Given the description of an element on the screen output the (x, y) to click on. 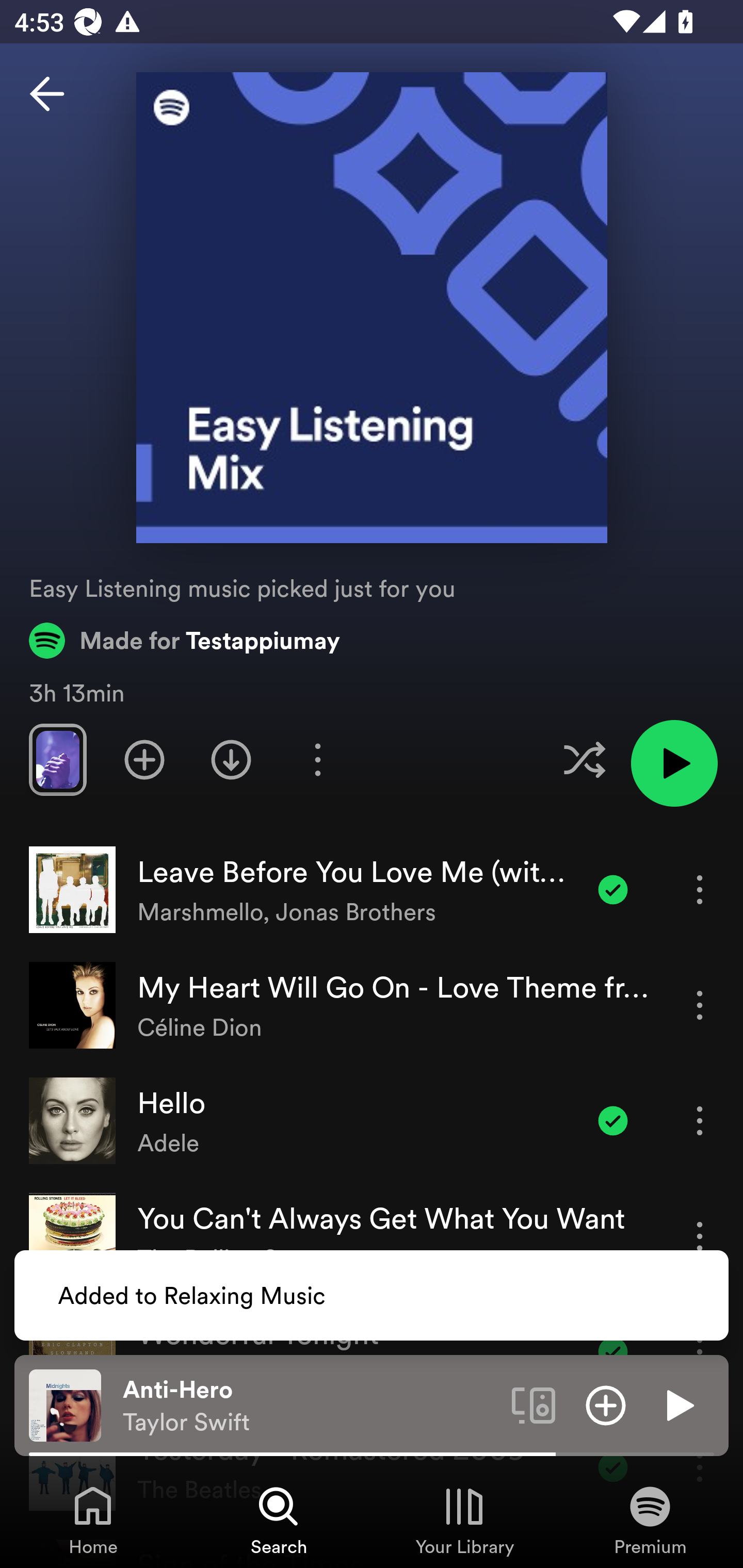
Back (46, 93)
Made for Testappiumay (184, 640)
Swipe through previews of tracks in this playlist. (57, 759)
Add playlist to Your Library (144, 759)
Download (230, 759)
More options for playlist Easy Listening Mix (317, 759)
Enable shuffle for this playlist (583, 759)
Play playlist (674, 763)
Item added (612, 889)
Hello Adele Item added More options for song Hello (371, 1121)
Item added (612, 1120)
More options for song Hello (699, 1120)
Anti-Hero Taylor Swift (309, 1405)
The cover art of the currently playing track (64, 1404)
Connect to a device. Opens the devices menu (533, 1404)
Add item (605, 1404)
Play (677, 1404)
Home, Tab 1 of 4 Home Home (92, 1519)
Search, Tab 2 of 4 Search Search (278, 1519)
Your Library, Tab 3 of 4 Your Library Your Library (464, 1519)
Premium, Tab 4 of 4 Premium Premium (650, 1519)
